Given the description of an element on the screen output the (x, y) to click on. 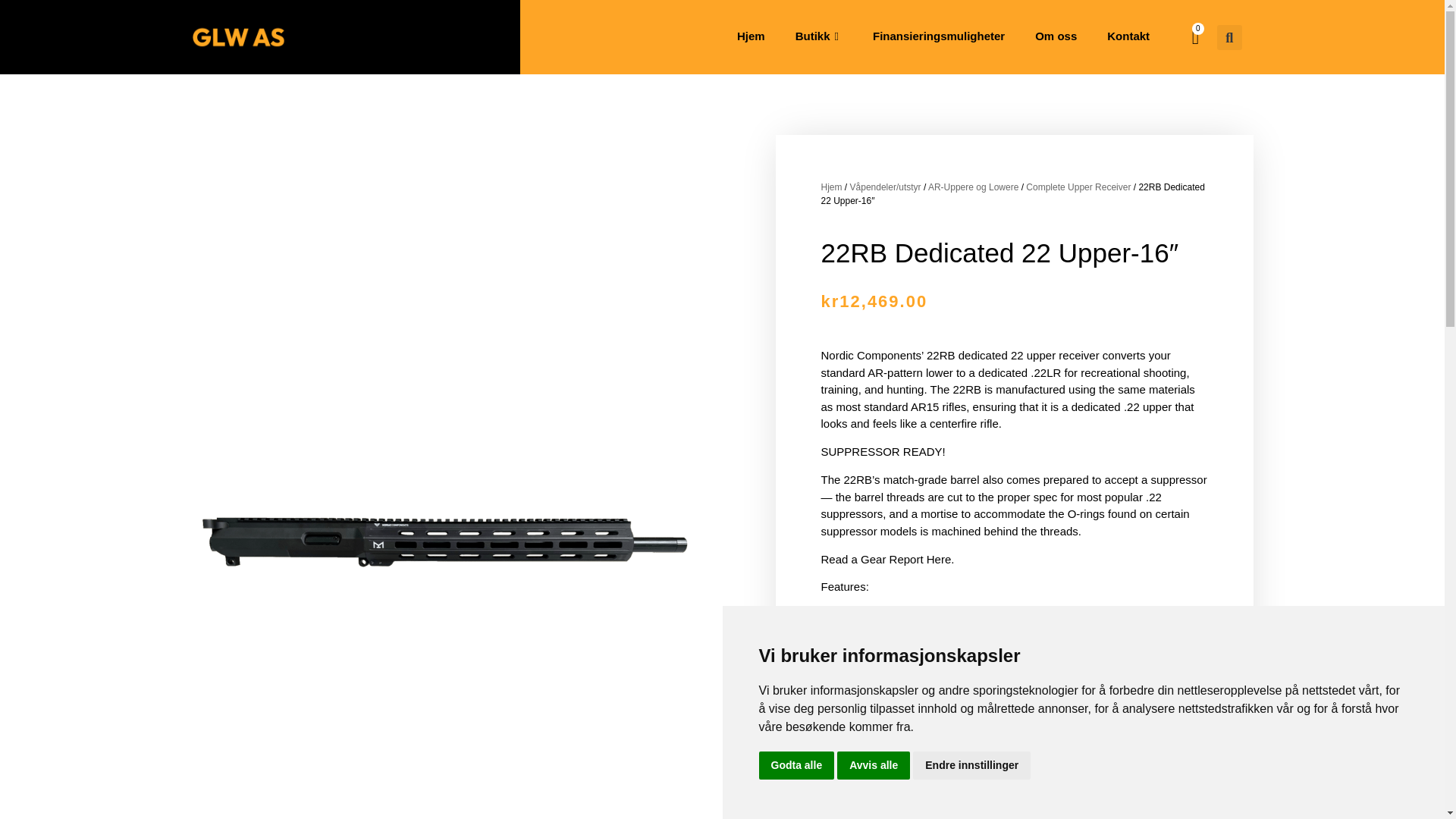
Endre innstillinger (971, 765)
Avvis alle (873, 765)
Kontakt (1128, 36)
Finansieringsmuligheter (938, 36)
Butikk (818, 36)
Hjem (750, 36)
Godta alle (796, 765)
0 (1195, 37)
Om oss (1056, 36)
